Given the description of an element on the screen output the (x, y) to click on. 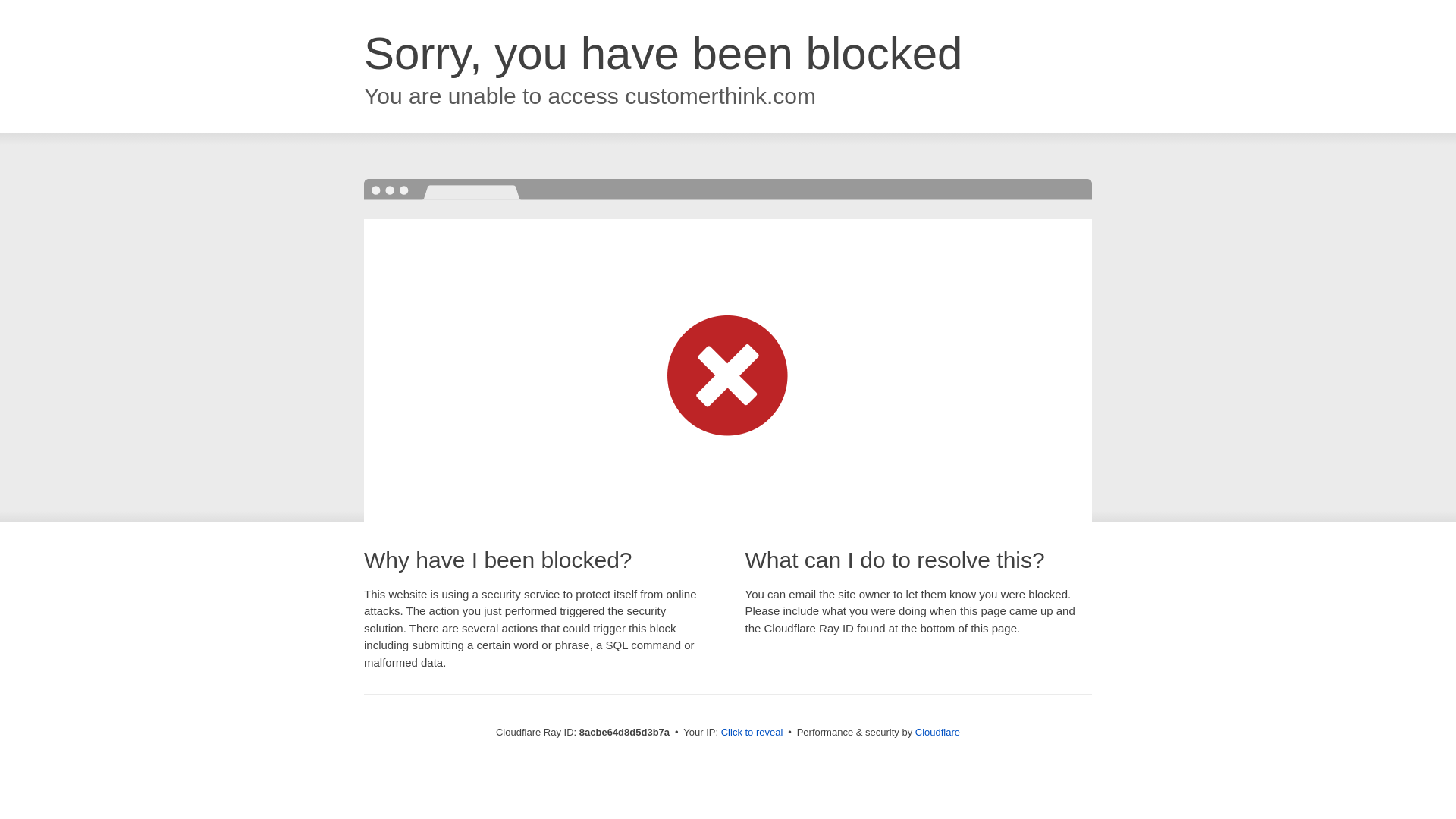
Cloudflare (937, 731)
Click to reveal (751, 732)
